Given the description of an element on the screen output the (x, y) to click on. 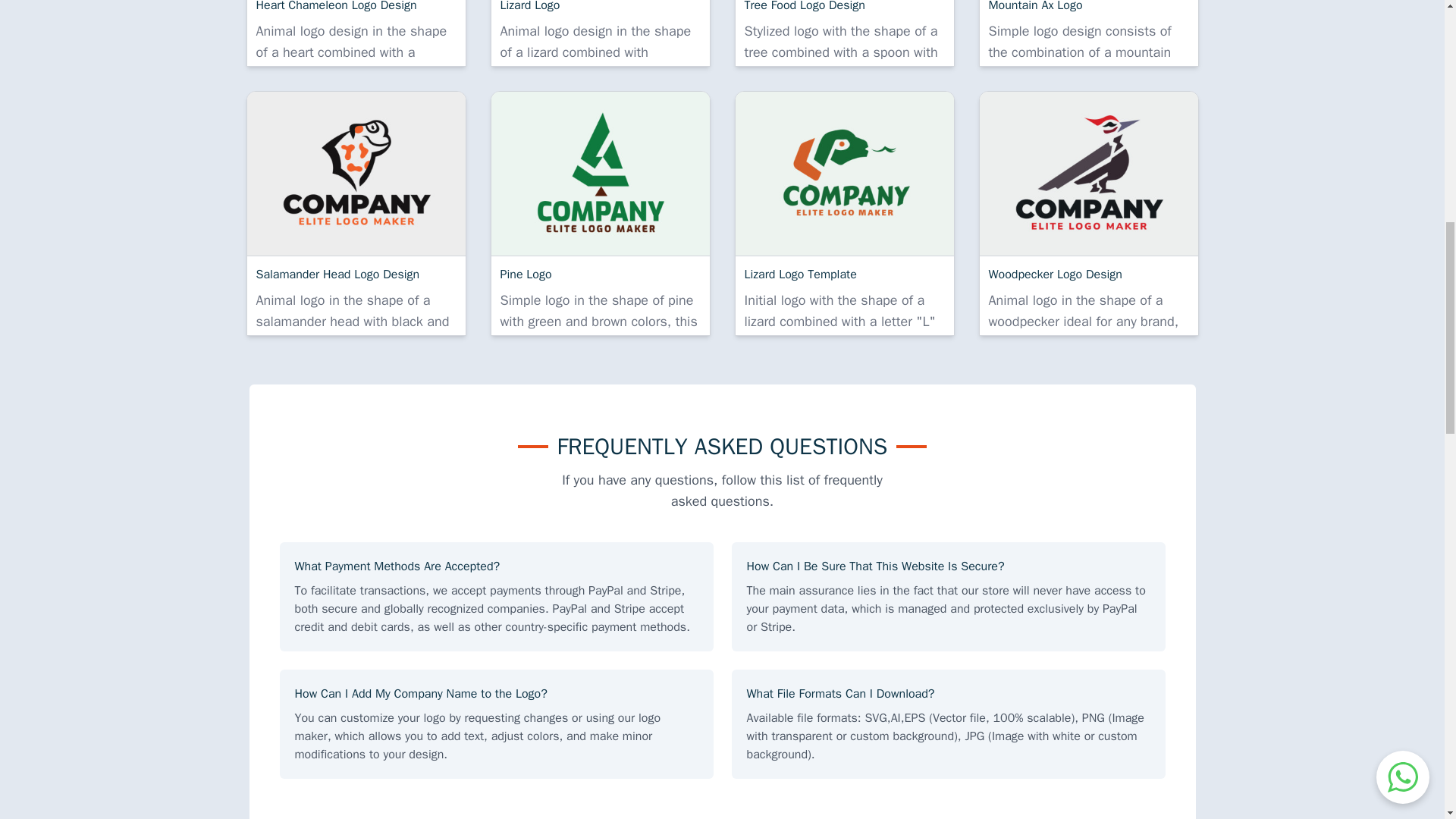
Woodpecker Logo Design (1088, 172)
Lizard Logo Template (844, 172)
Pine Logo (601, 172)
Salamander Head Logo Design (356, 172)
